Given the description of an element on the screen output the (x, y) to click on. 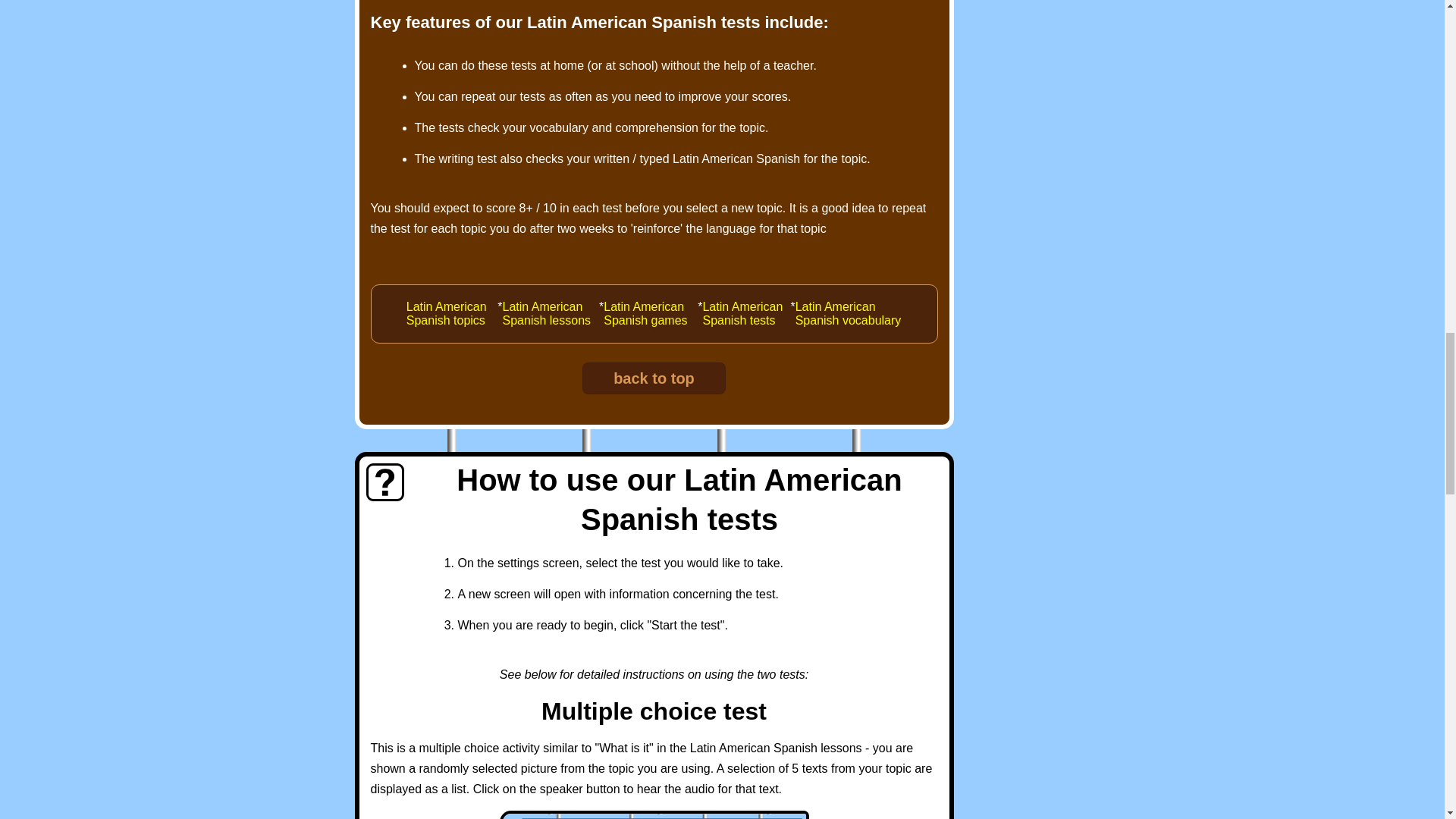
Latin American Spanish topics (451, 313)
Latin American Spanish tests (745, 313)
Latin American Spanish lessons (550, 313)
back to top (653, 377)
Latin American Spanish vocabulary (847, 313)
Latin American Spanish games (650, 313)
